Given the description of an element on the screen output the (x, y) to click on. 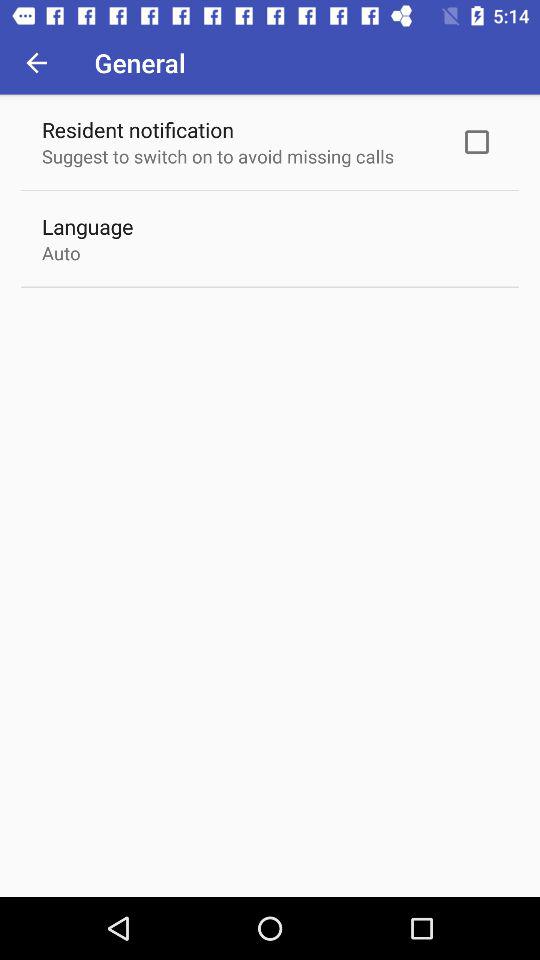
select item above the resident notification icon (36, 62)
